Given the description of an element on the screen output the (x, y) to click on. 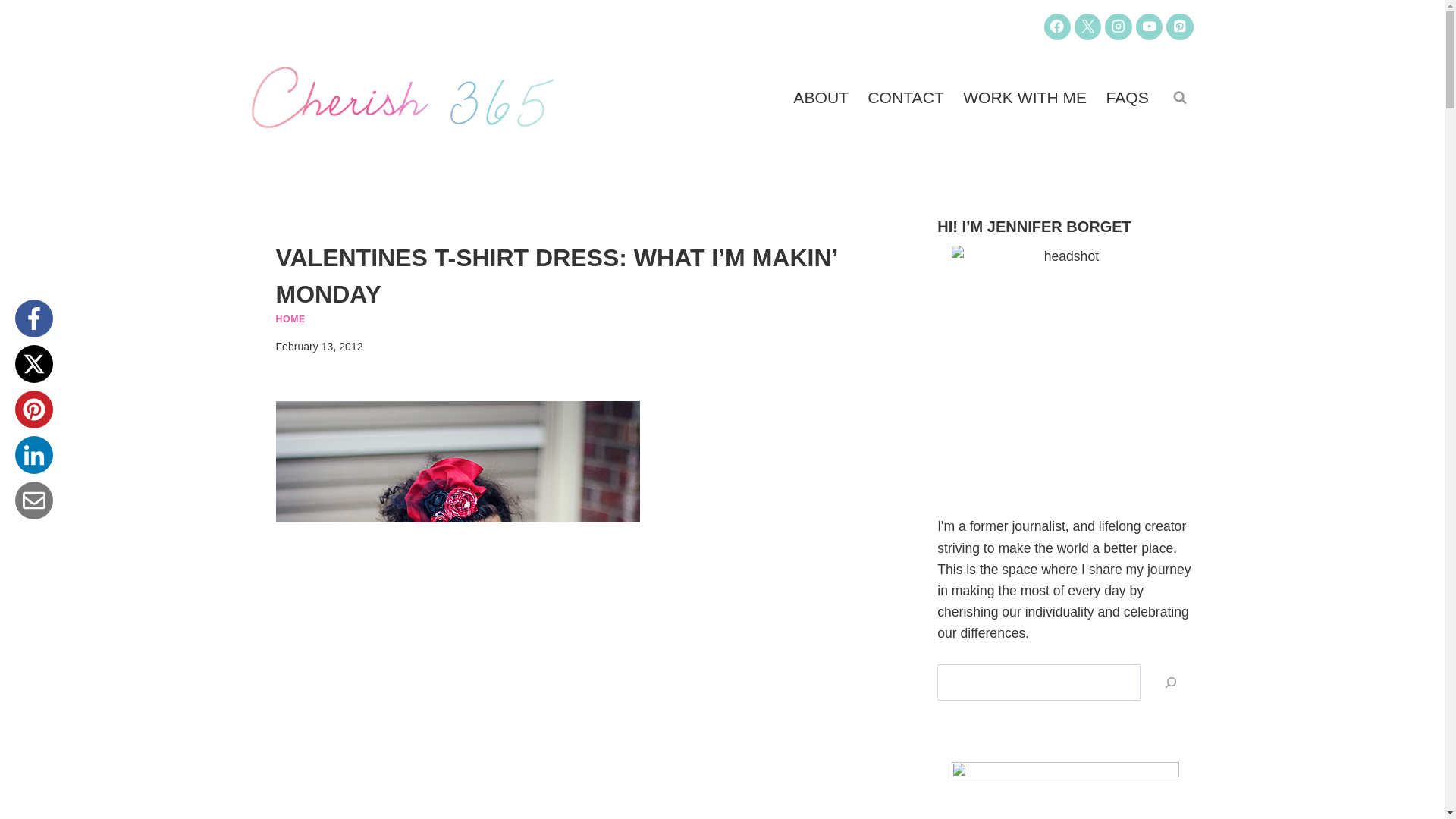
ABOUT (821, 97)
FAQS (1127, 97)
HOME (290, 318)
WORK WITH ME (1024, 97)
CONTACT (906, 97)
